Given the description of an element on the screen output the (x, y) to click on. 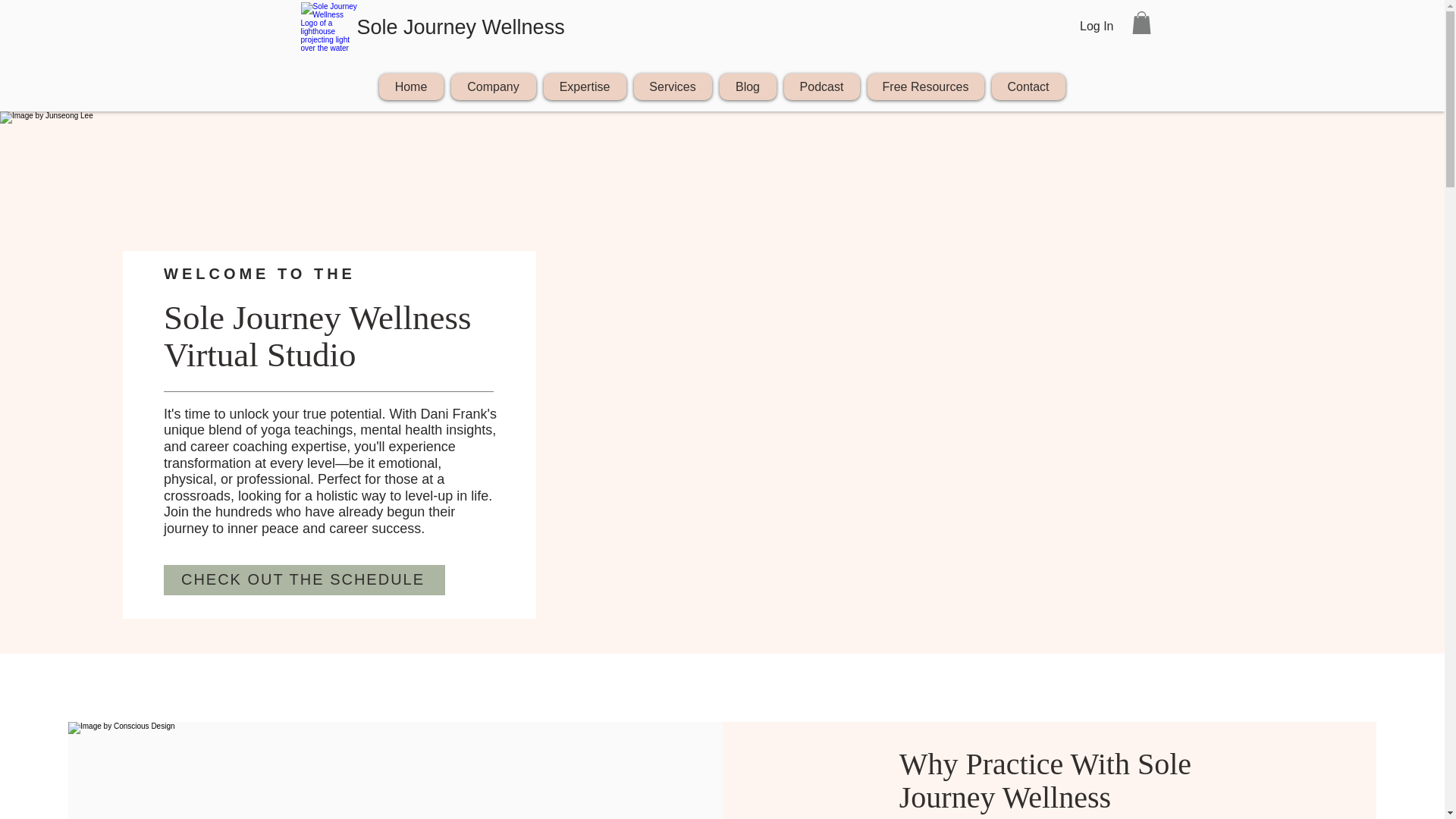
Log In (1096, 26)
Blog (747, 86)
Company (492, 86)
Podcast (822, 86)
Home (411, 86)
Expertise (584, 86)
CHECK OUT THE SCHEDULE (304, 580)
Services (672, 86)
Contact (1028, 86)
